Given the description of an element on the screen output the (x, y) to click on. 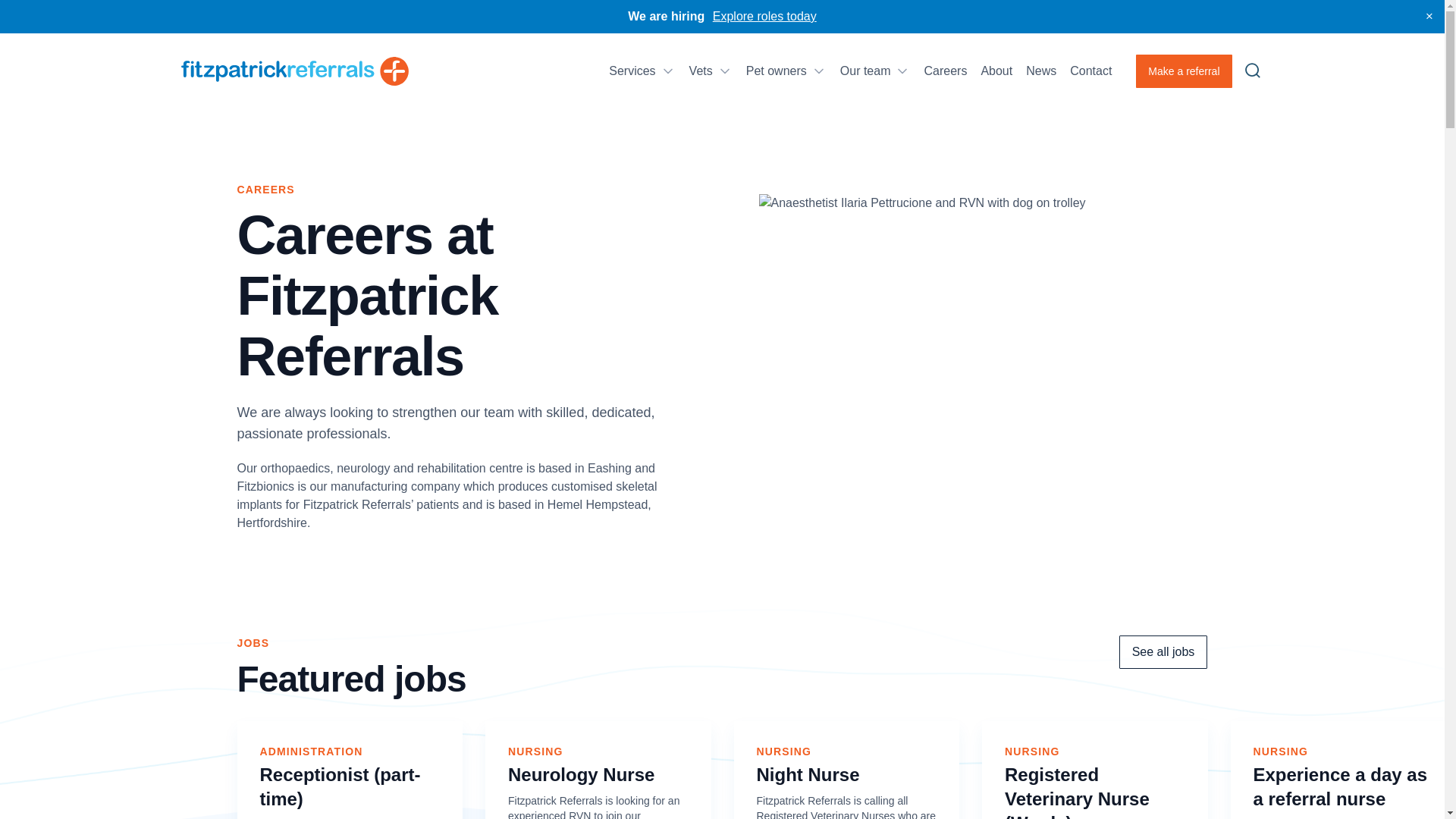
Explore roles today (764, 15)
Go home (293, 70)
Services (641, 71)
Our team (875, 71)
Vets (710, 71)
Pet owners (786, 71)
